Given the description of an element on the screen output the (x, y) to click on. 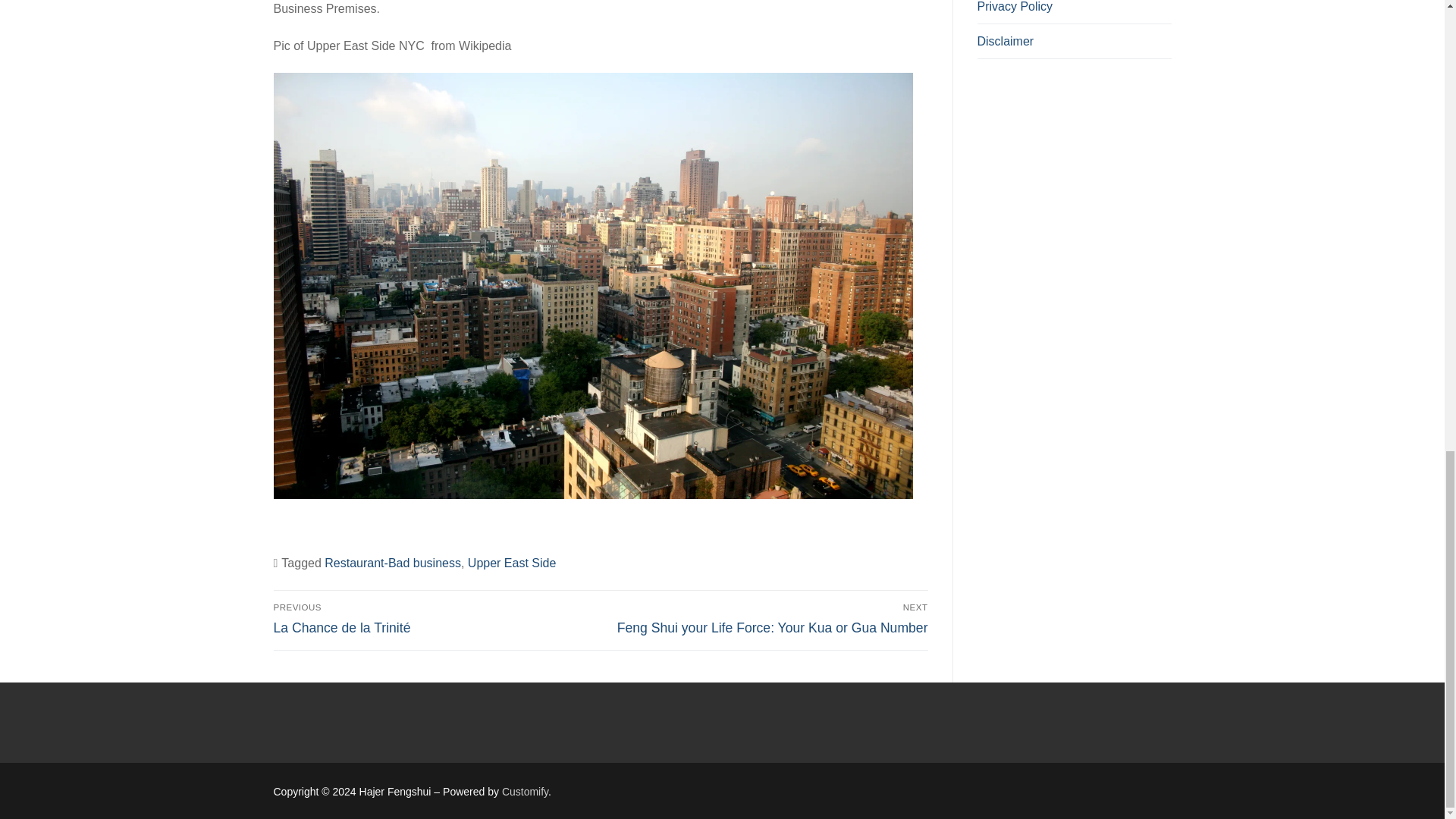
Restaurant-Bad business (392, 562)
Privacy Policy (1073, 12)
Disclaimer (1073, 41)
Upper East Side (511, 562)
